Given the description of an element on the screen output the (x, y) to click on. 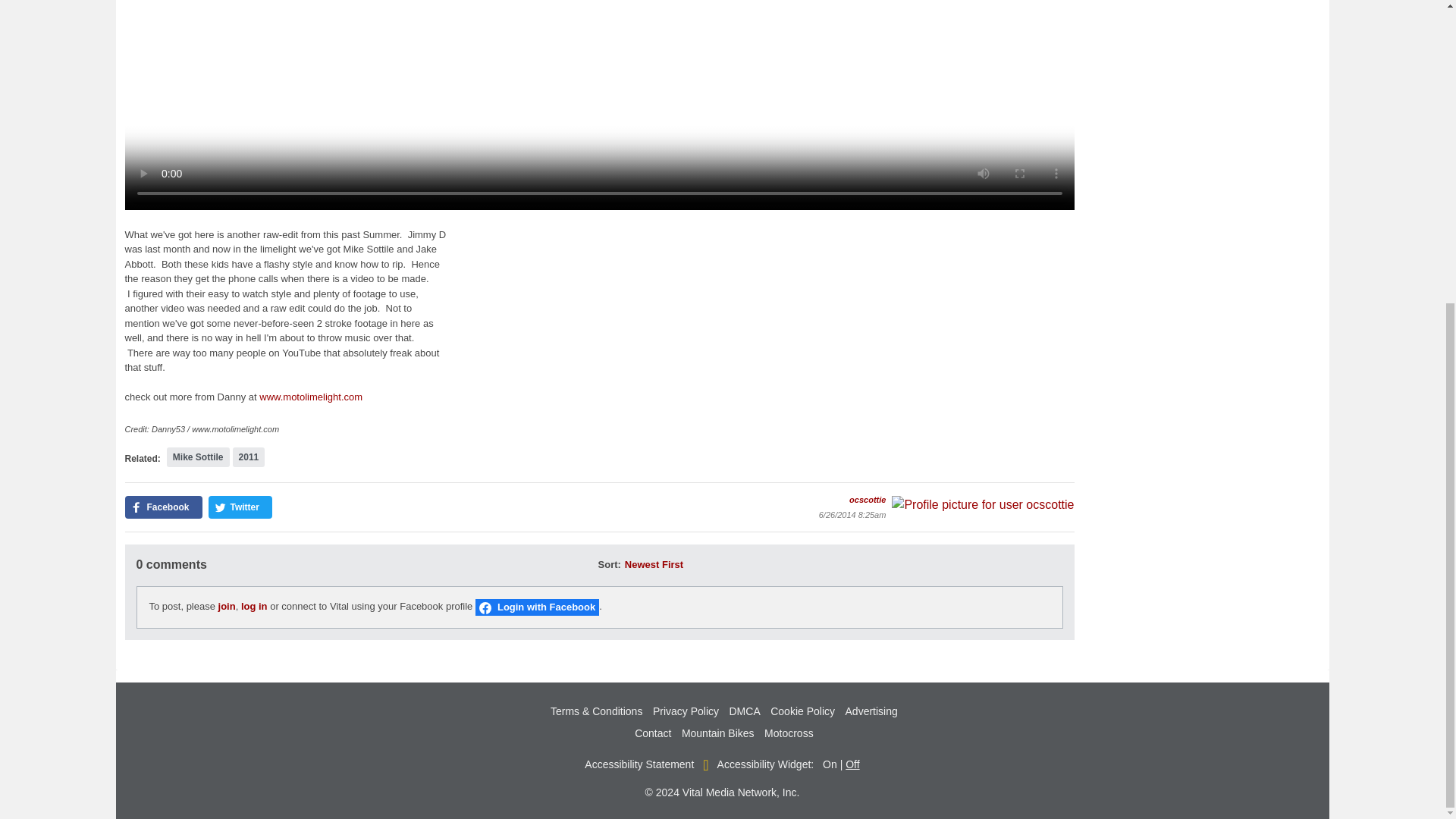
ocscottie (982, 505)
